Given the description of an element on the screen output the (x, y) to click on. 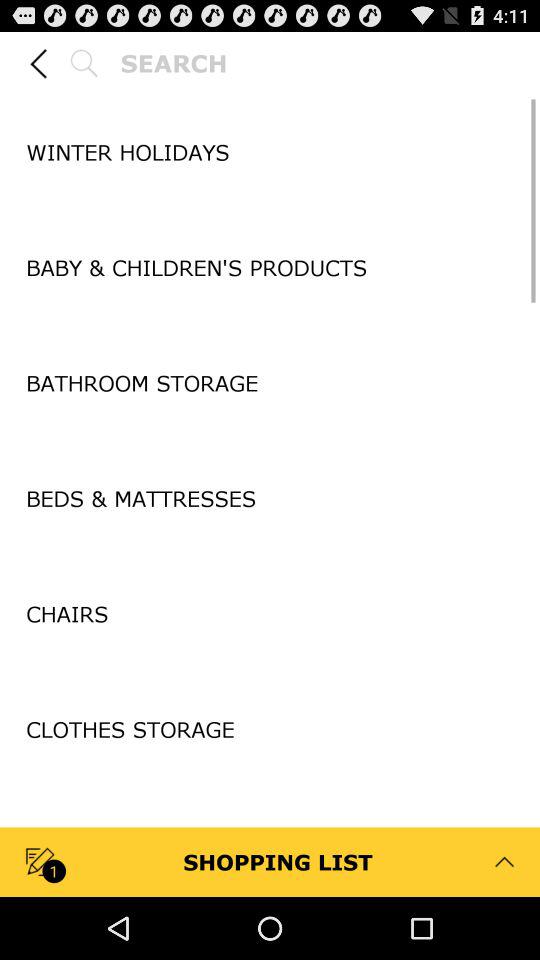
launch the clothes storage icon (270, 729)
